Given the description of an element on the screen output the (x, y) to click on. 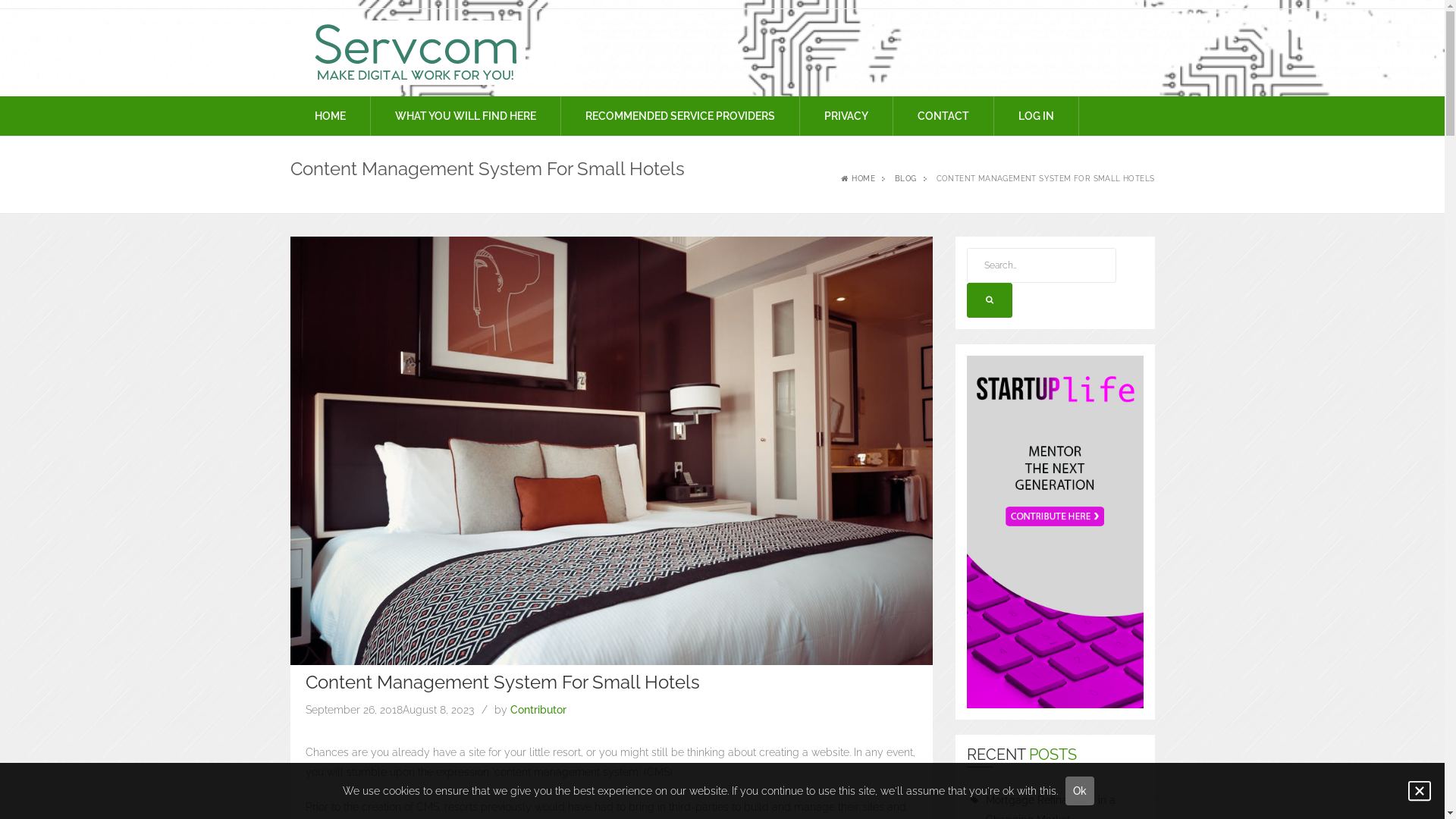
WHAT YOU WILL FIND HERE Element type: text (464, 115)
HOME Element type: text (329, 115)
RECOMMENDED SERVICE PROVIDERS Element type: text (679, 115)
Ok Element type: text (1079, 790)
CONTACT Element type: text (942, 115)
Contributor Element type: text (537, 709)
Search for: Element type: hover (1041, 264)
LOG IN Element type: text (1035, 115)
PRIVACY Element type: text (845, 115)
BLOG Element type: text (905, 178)
HOME Element type: text (857, 178)
